Given the description of an element on the screen output the (x, y) to click on. 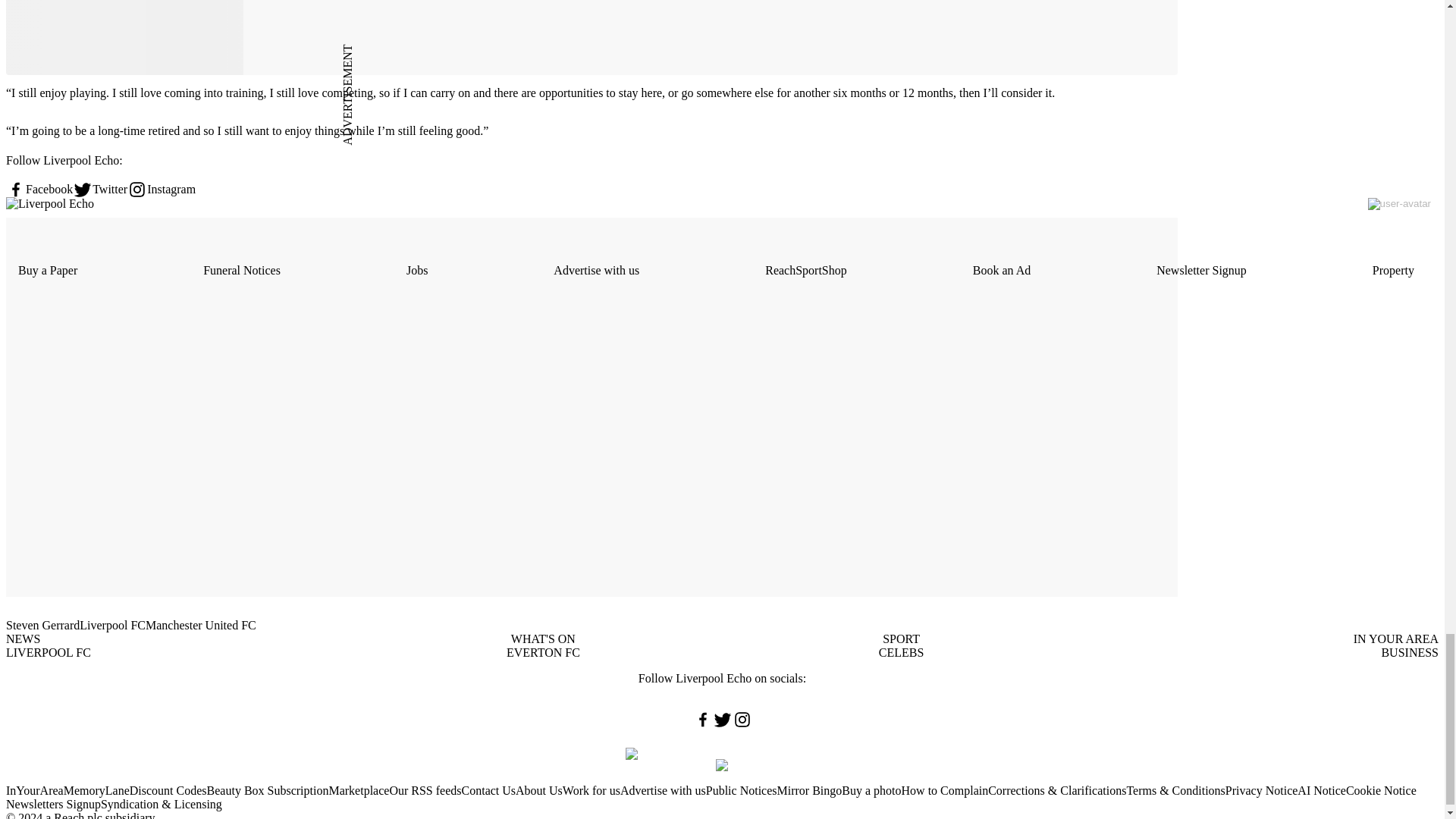
Facebook (38, 189)
Twitter (100, 189)
Instagram (161, 189)
